Given the description of an element on the screen output the (x, y) to click on. 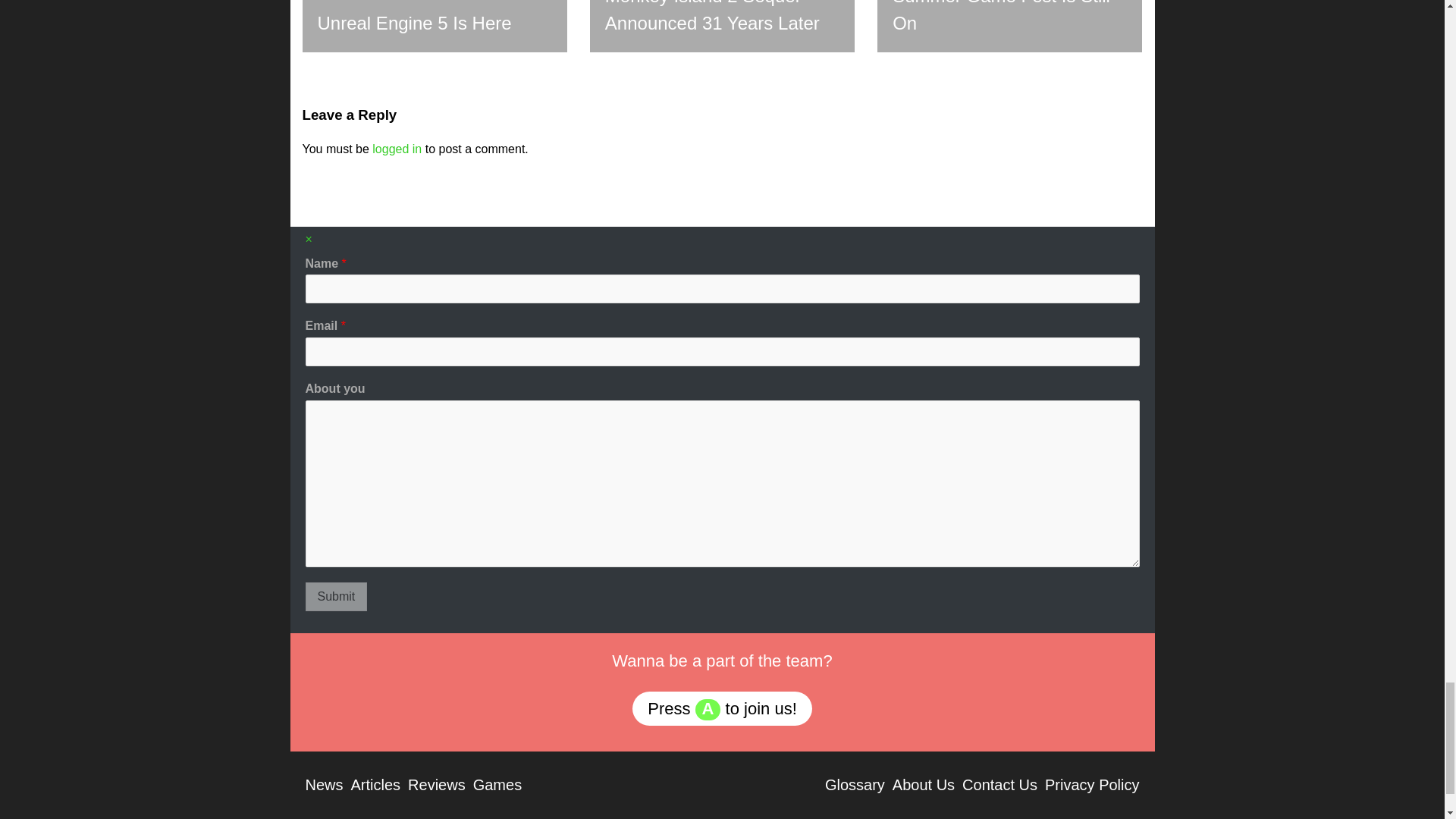
Unreal Engine 5 Is Here (433, 26)
